Given the description of an element on the screen output the (x, y) to click on. 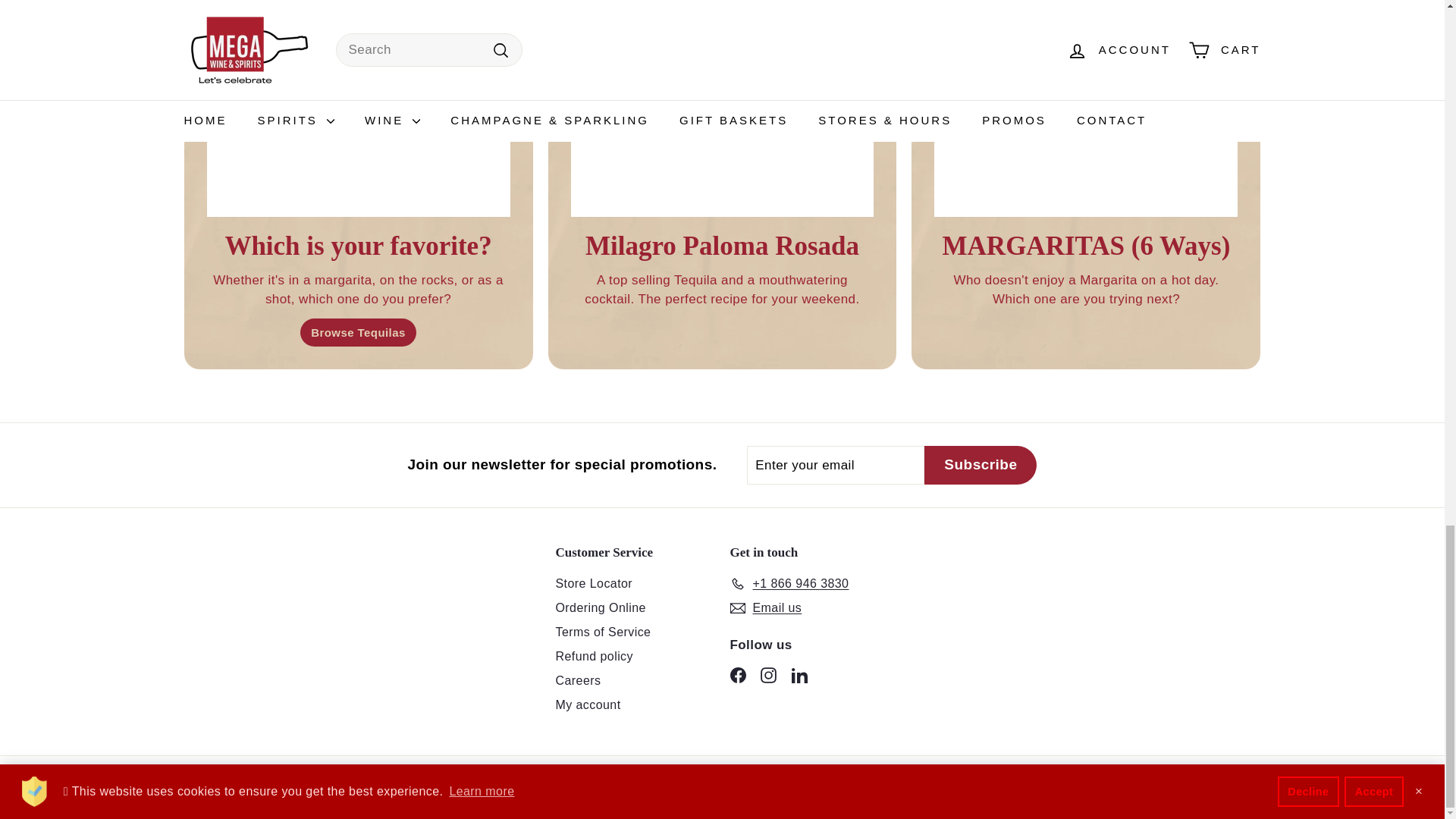
instagram (768, 675)
